Given the description of an element on the screen output the (x, y) to click on. 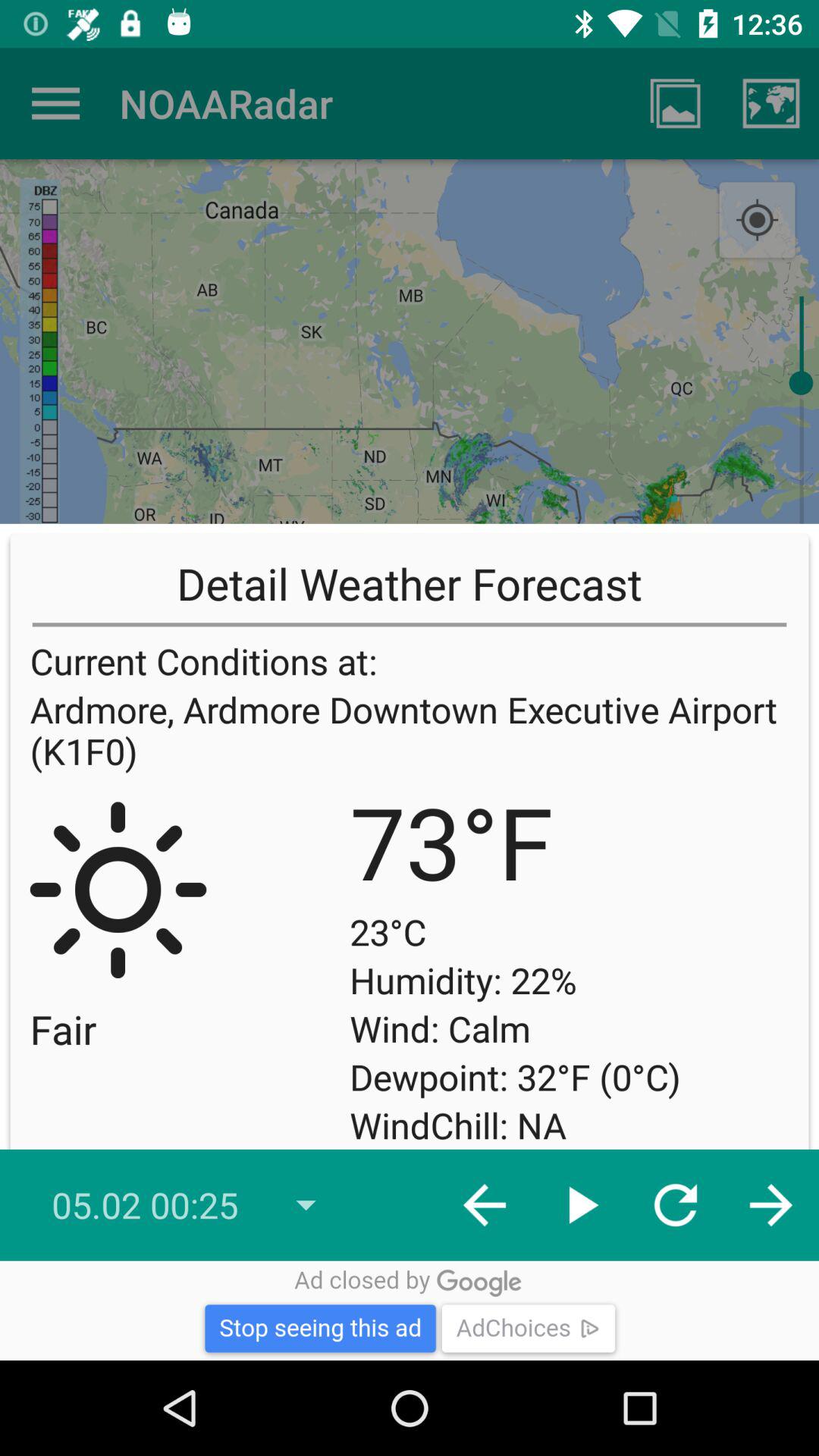
google advertisement options (409, 1310)
